Given the description of an element on the screen output the (x, y) to click on. 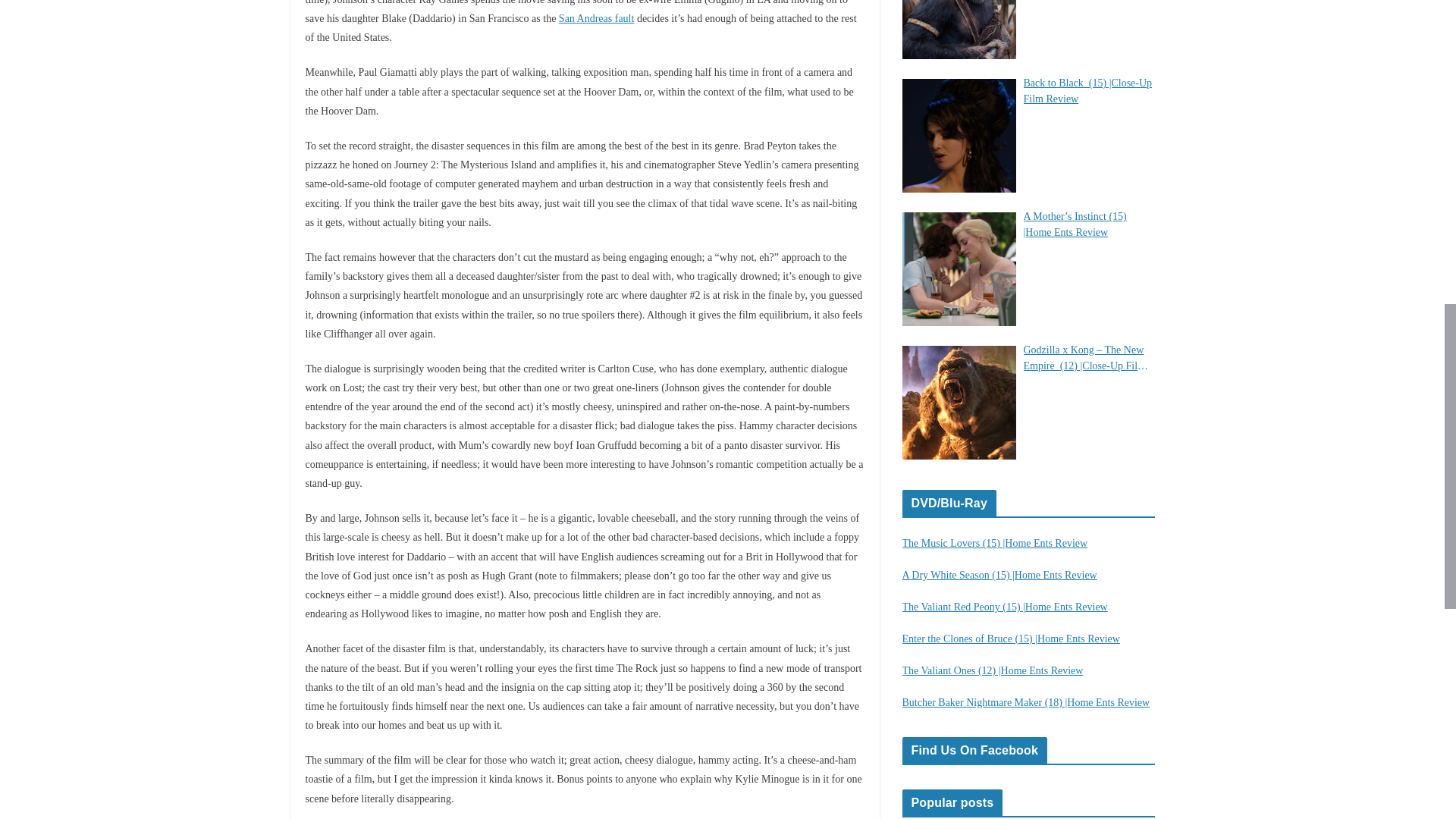
San Andreas fault (596, 18)
